Given the description of an element on the screen output the (x, y) to click on. 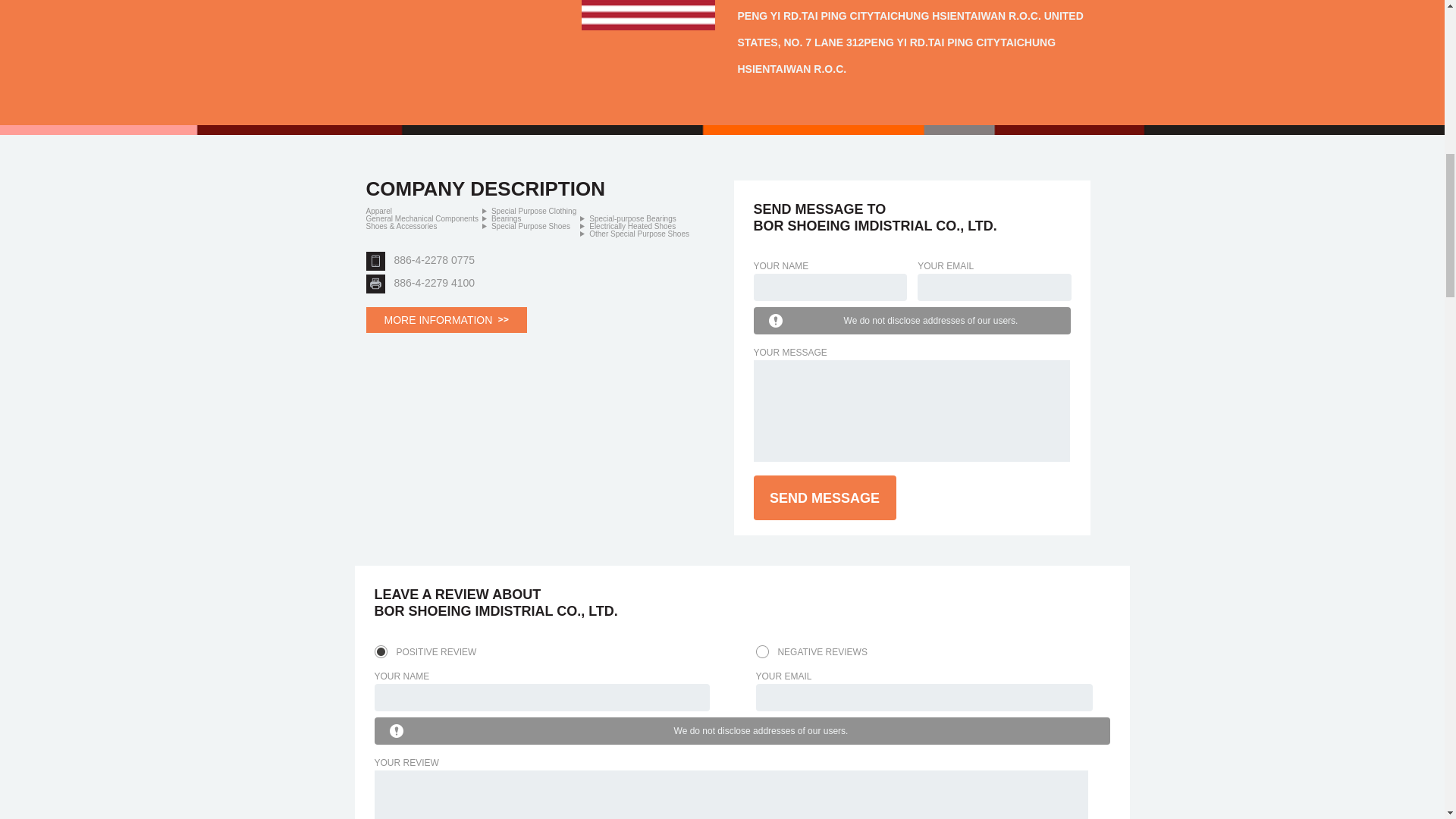
SEND MESSAGE (825, 497)
